Given the description of an element on the screen output the (x, y) to click on. 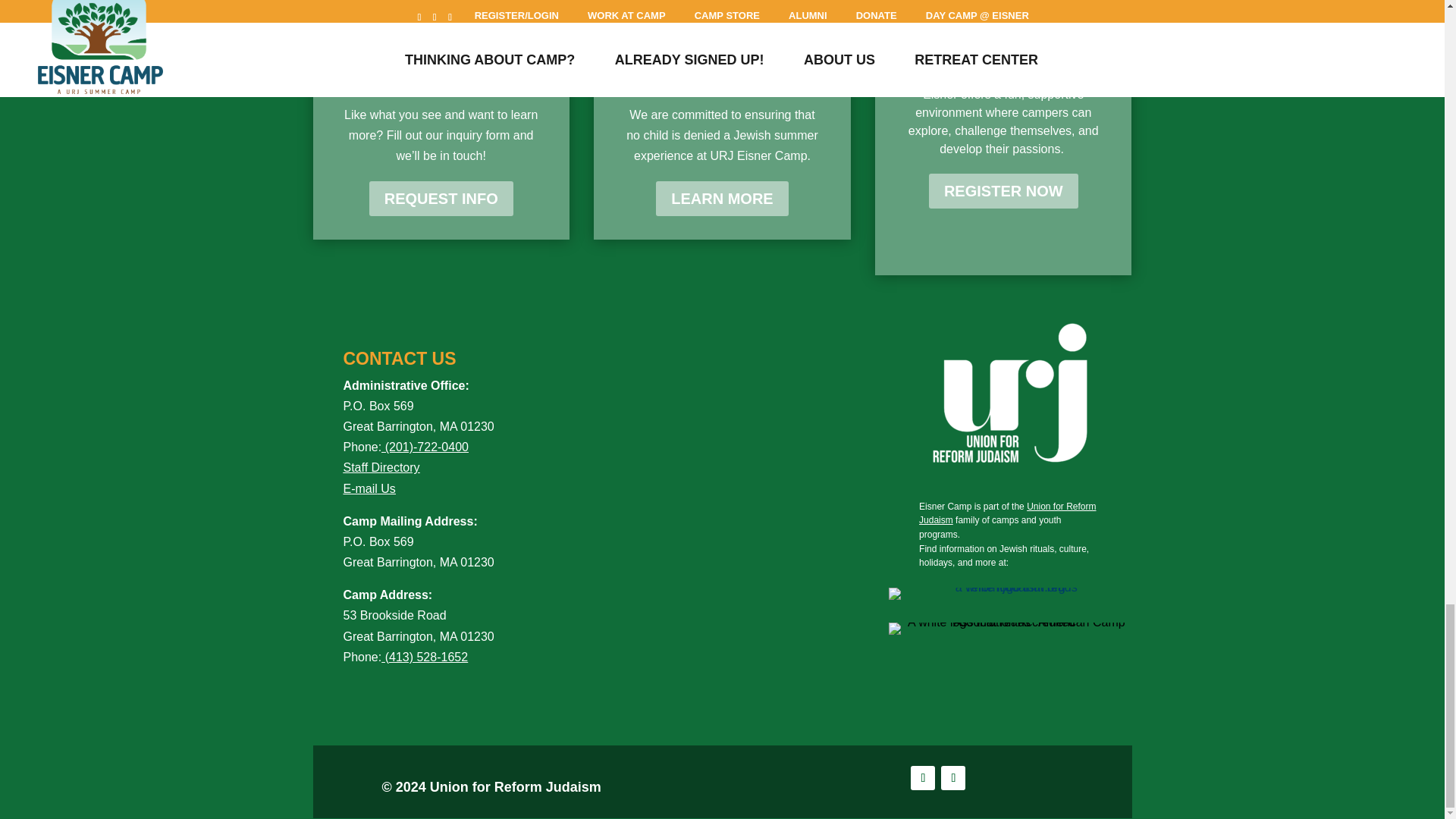
Staff Directory (380, 467)
Follow on Facebook (922, 777)
E-mail Us (380, 498)
reformjudaismdotorglogo1 (1009, 593)
LEARN MORE (721, 198)
REQUEST INFO (441, 198)
Follow on Instagram (952, 777)
ACA-Logo (1009, 628)
53 Brookside Road (393, 615)
REGISTER NOW (1003, 190)
Union for Reform Judaism (1007, 513)
